Given the description of an element on the screen output the (x, y) to click on. 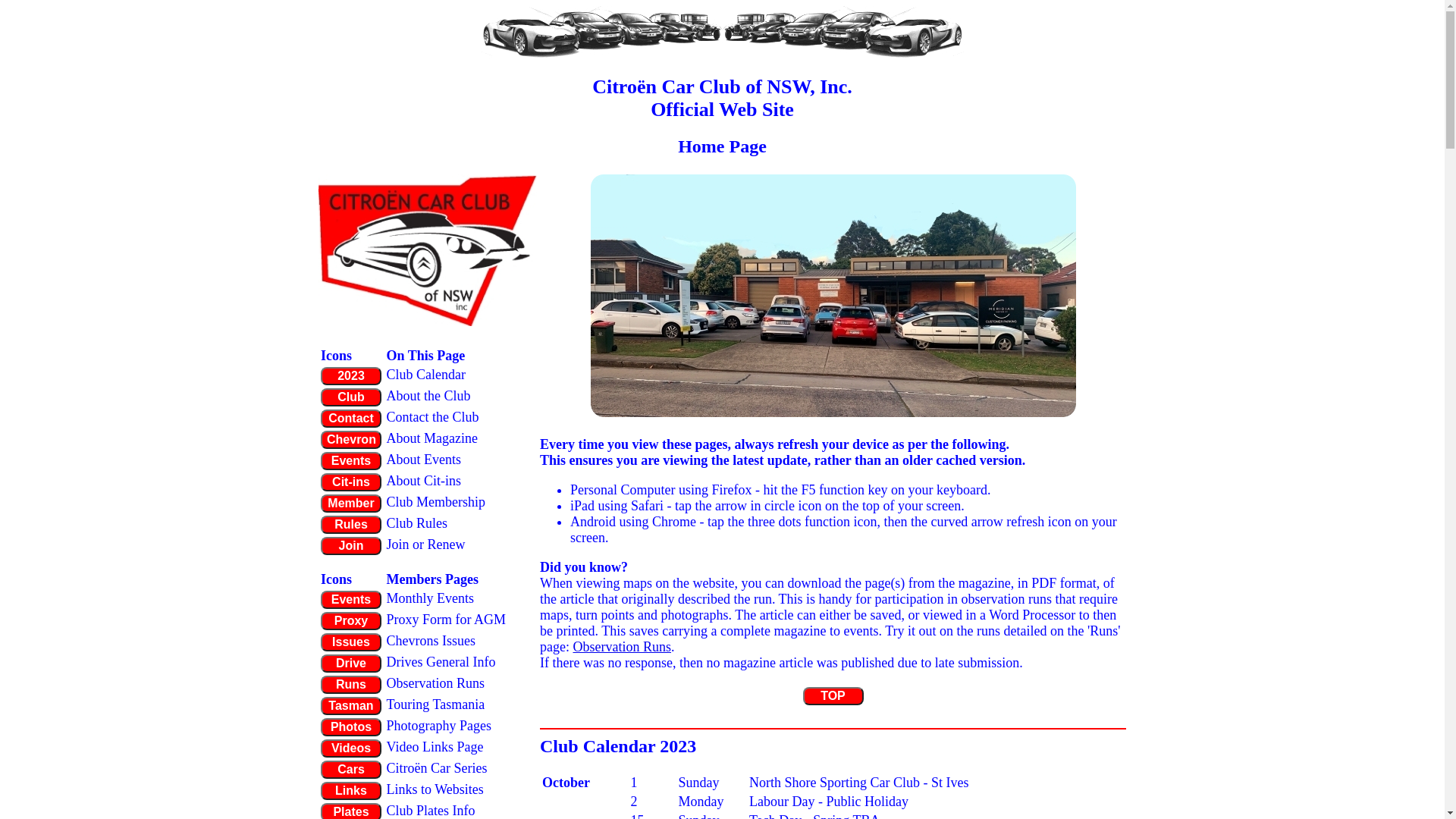
Tasman Element type: text (350, 705)
Links Element type: text (350, 790)
Runs Element type: text (350, 684)
Photos Element type: text (350, 727)
Chevron Element type: text (350, 439)
Member Element type: text (350, 503)
TOP Element type: text (832, 696)
Observation Runs Element type: text (621, 646)
Club Element type: text (350, 397)
Rules Element type: text (350, 524)
Drive Element type: text (350, 663)
Videos Element type: text (350, 748)
Cars Element type: text (350, 769)
Contact Element type: text (350, 418)
Cit-ins Element type: text (350, 482)
2023 Element type: text (350, 376)
Issues Element type: text (350, 642)
Join Element type: text (350, 545)
Events Element type: text (350, 460)
Proxy Element type: text (350, 620)
Events Element type: text (350, 599)
